Given the description of an element on the screen output the (x, y) to click on. 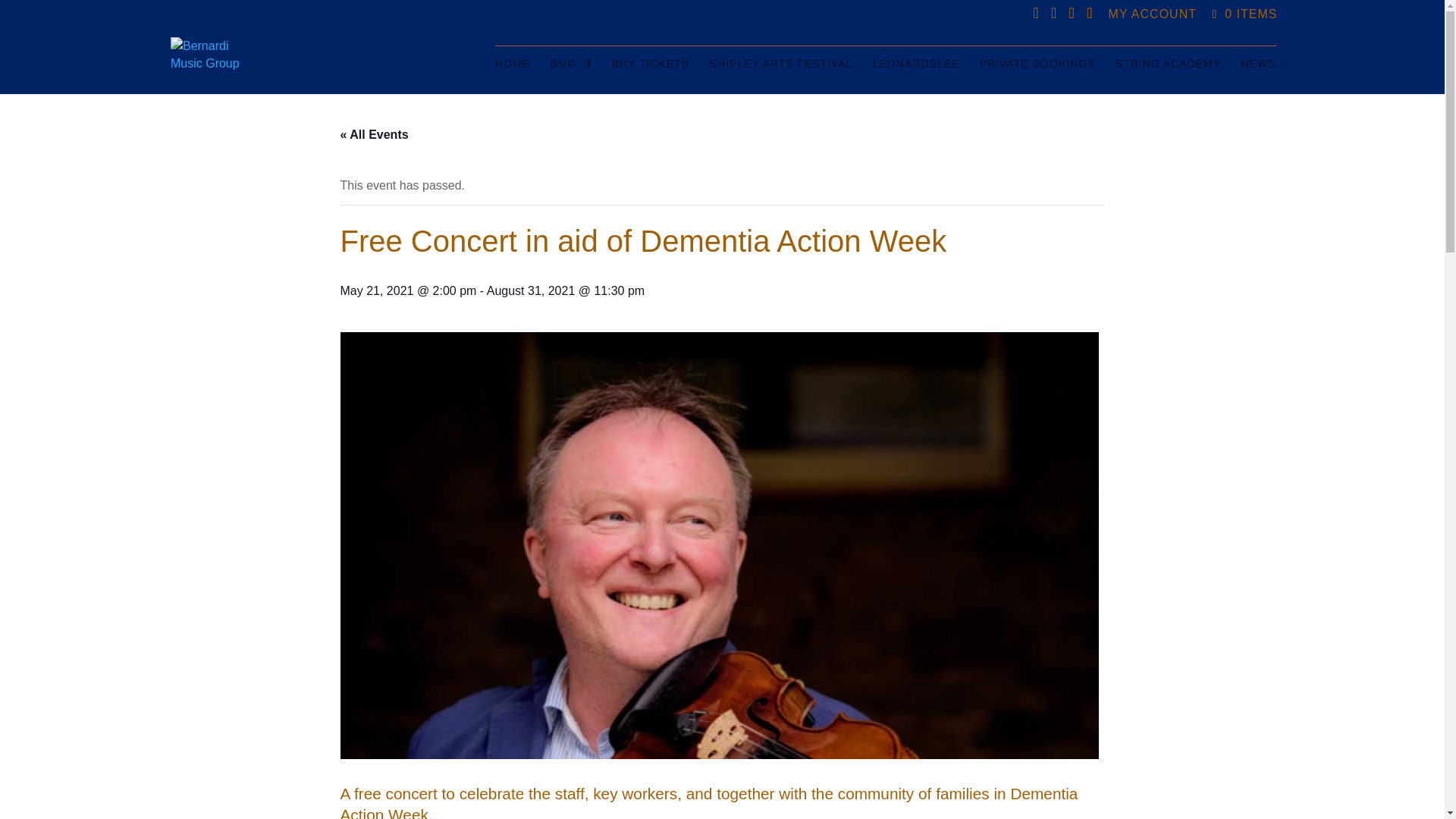
SHIPLEY ARTS FESTIVAL (780, 76)
STRING ACADEMY (1168, 76)
NEWS (1257, 76)
HOME (512, 76)
0 ITEMS (1243, 13)
BUY TICKETS (649, 76)
BMG (570, 76)
MY ACCOUNT (1152, 13)
LEONARDSLEE (915, 76)
PRIVATE BOOKINGS (1036, 76)
